Given the description of an element on the screen output the (x, y) to click on. 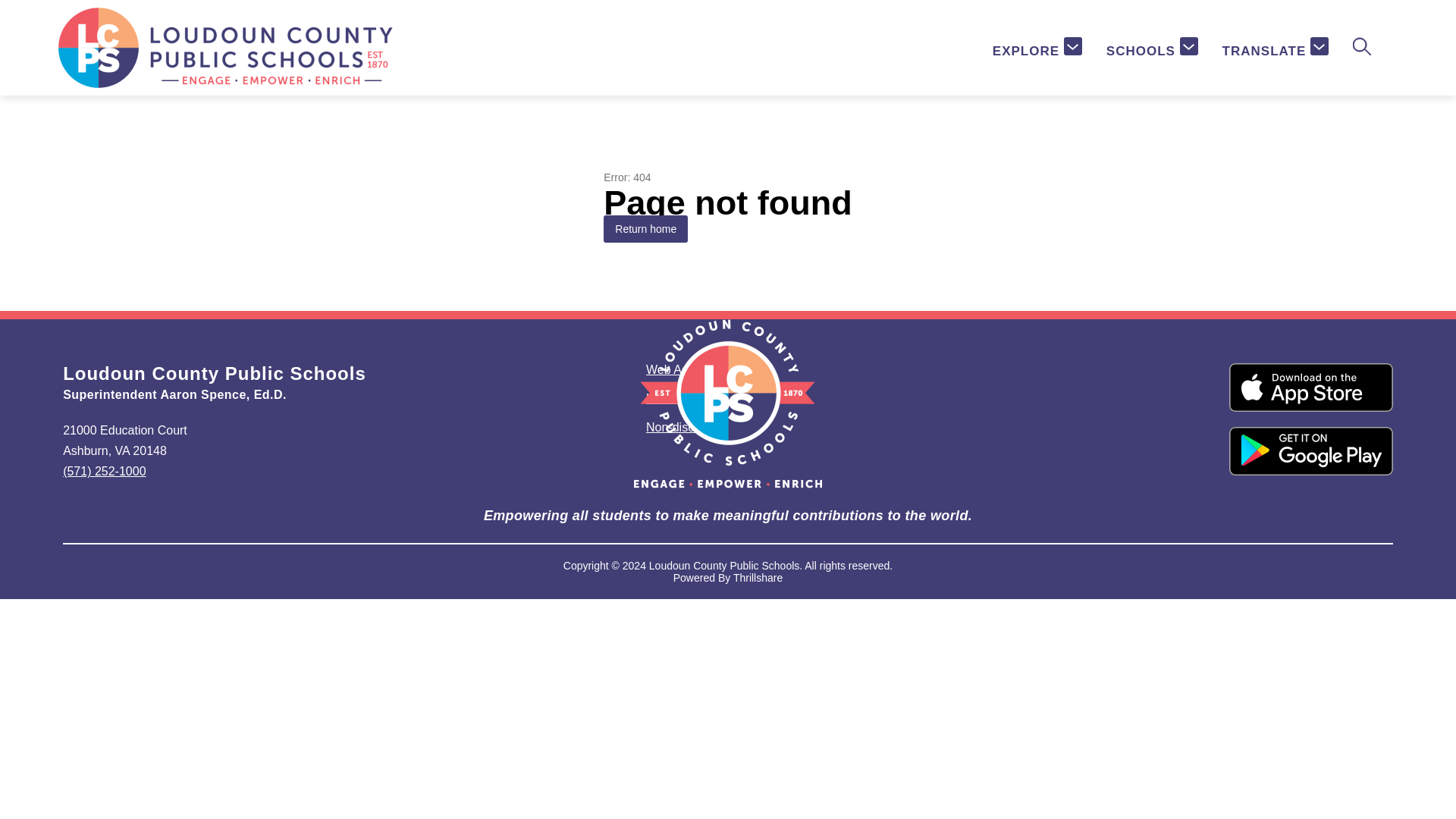
DISCOVER LCPS (795, 39)
TRANSLATE (1275, 48)
EXPLORE (1036, 48)
SCHOOLS (1152, 48)
